Given the description of an element on the screen output the (x, y) to click on. 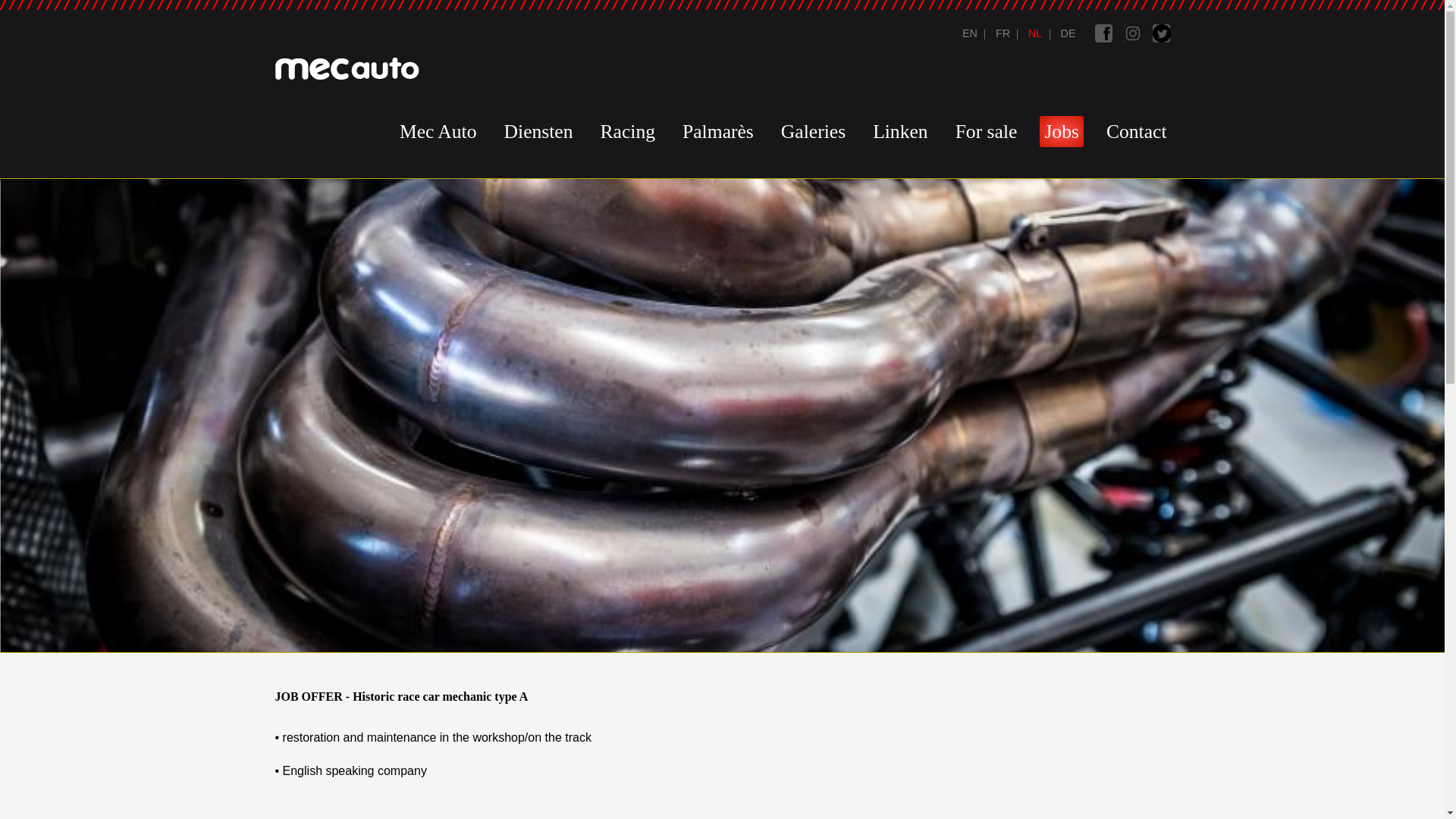
Jobs (970, 33)
FR (1001, 33)
Galeries (813, 131)
For sale (986, 131)
Jobs (1001, 33)
Contact (1137, 131)
Jobs (1033, 33)
Jobs (1066, 33)
Racing (628, 131)
DE (1066, 33)
